Given the description of an element on the screen output the (x, y) to click on. 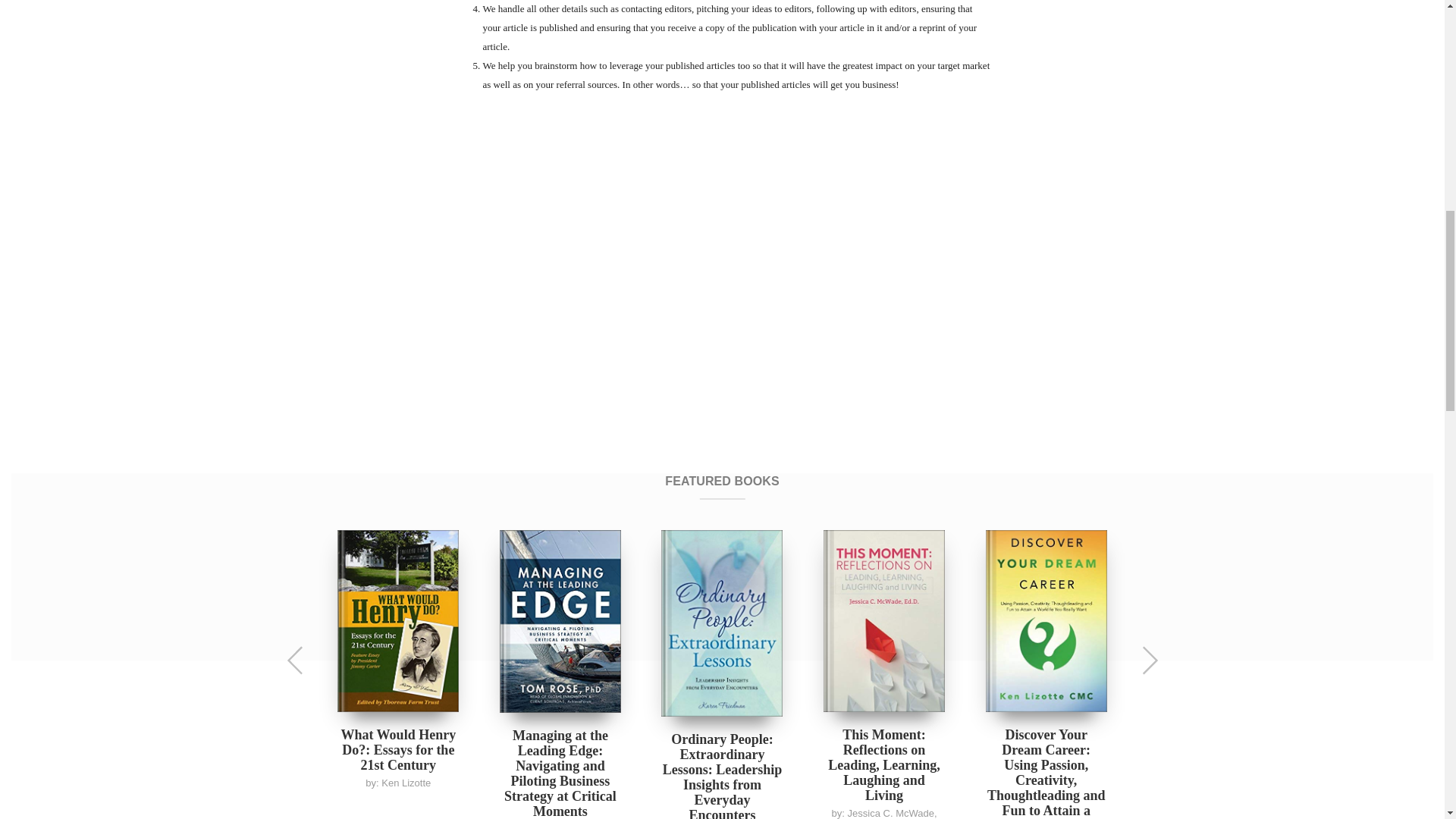
What Would Henry Do?: Essays for the 21st Century (397, 750)
